Given the description of an element on the screen output the (x, y) to click on. 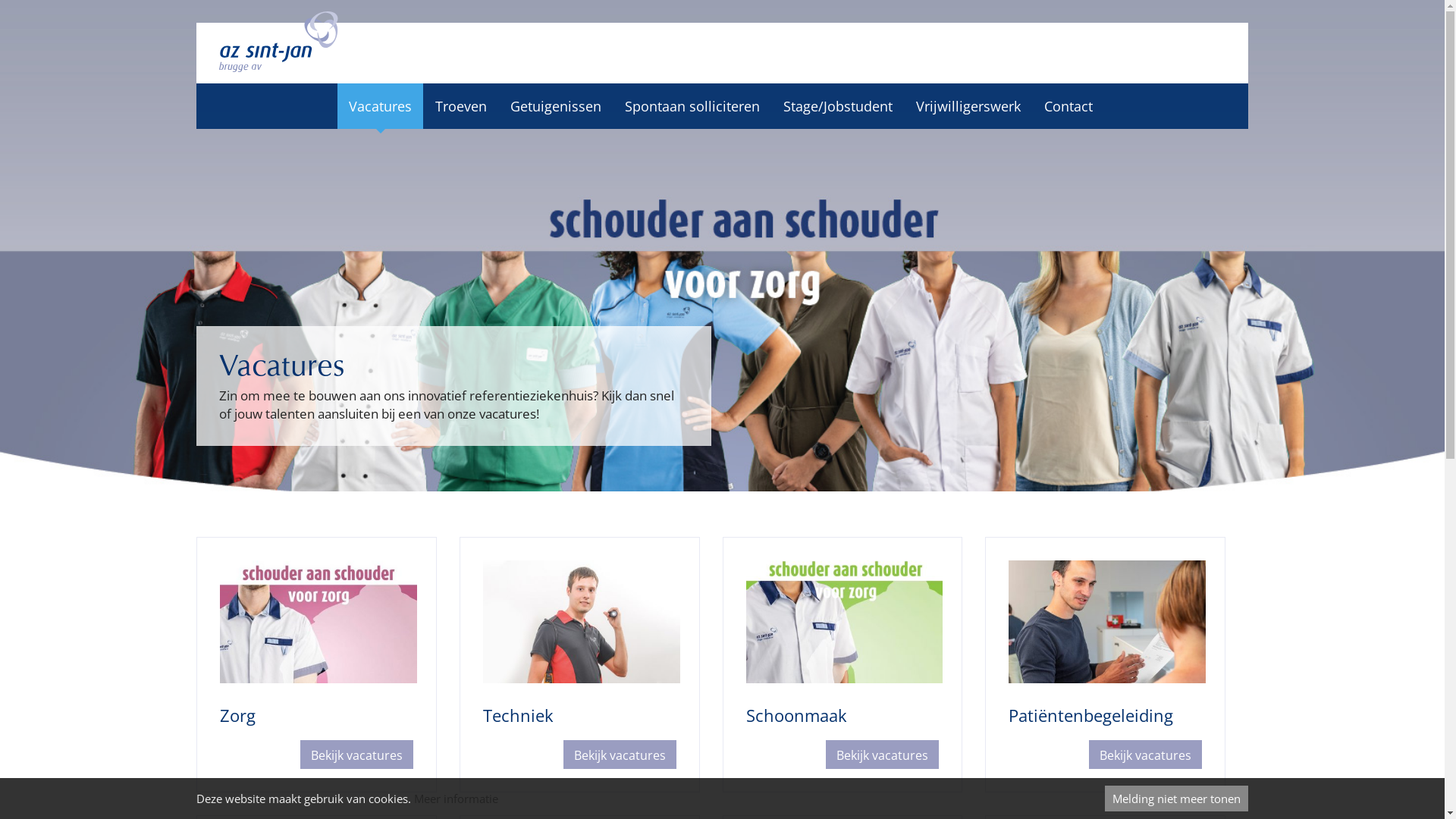
Melding niet meer tonen Element type: text (1176, 798)
Spontaan solliciteren Element type: text (691, 105)
Getuigenissen Element type: text (555, 105)
Vacatures Element type: text (379, 105)
Vrijwilligerswerk Element type: text (967, 105)
Troeven Element type: text (460, 105)
Zorg
Bekijk vacatures Element type: text (316, 664)
Meer informatie Element type: text (456, 798)
Techniek
Bekijk vacatures Element type: text (579, 664)
Contact Element type: text (1068, 105)
Schoonmaak
Bekijk vacatures Element type: text (841, 664)
Stage/Jobstudent Element type: text (837, 105)
